Given the description of an element on the screen output the (x, y) to click on. 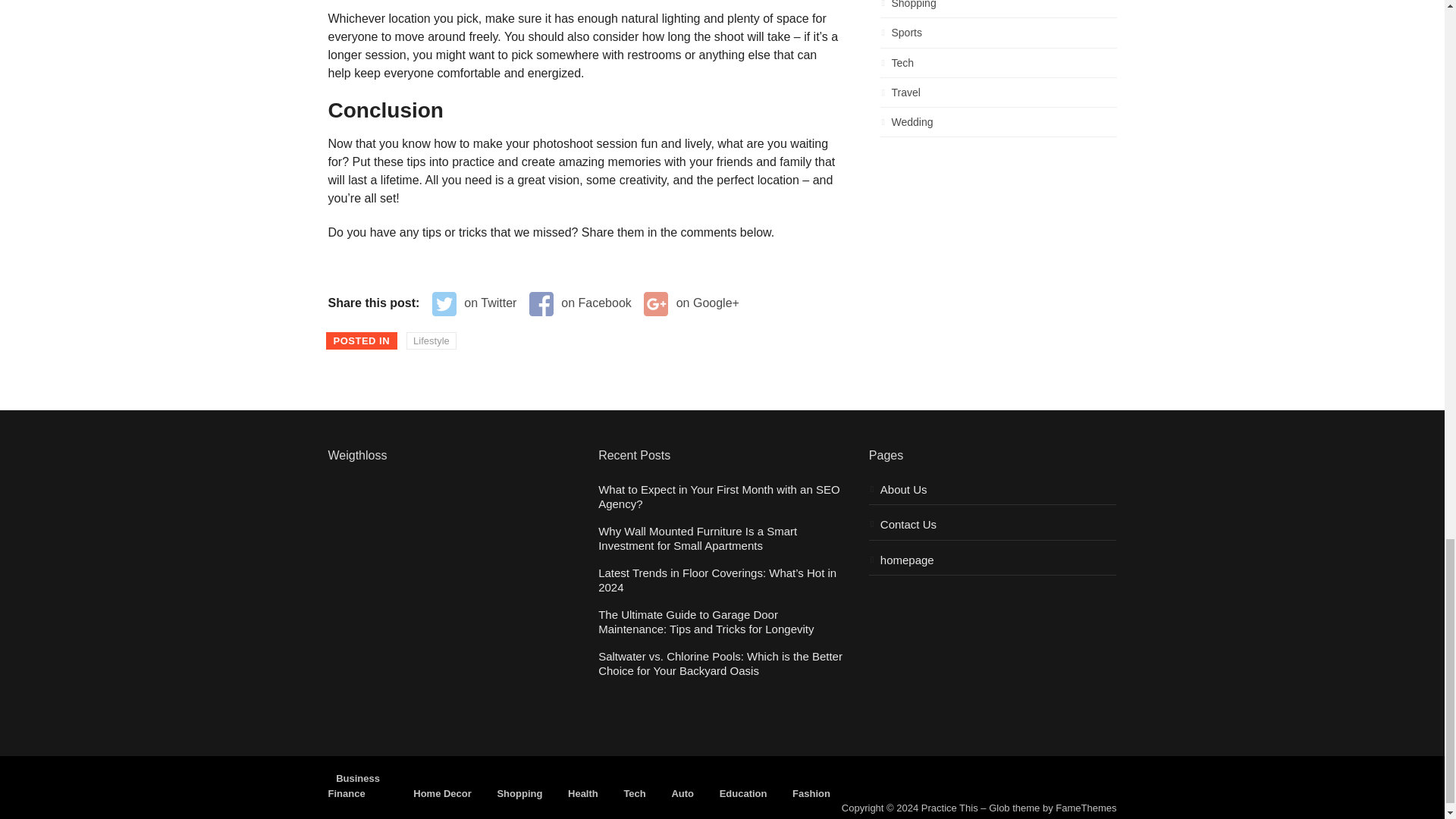
on Facebook (580, 303)
Lifestyle (431, 341)
on Twitter (474, 303)
